Given the description of an element on the screen output the (x, y) to click on. 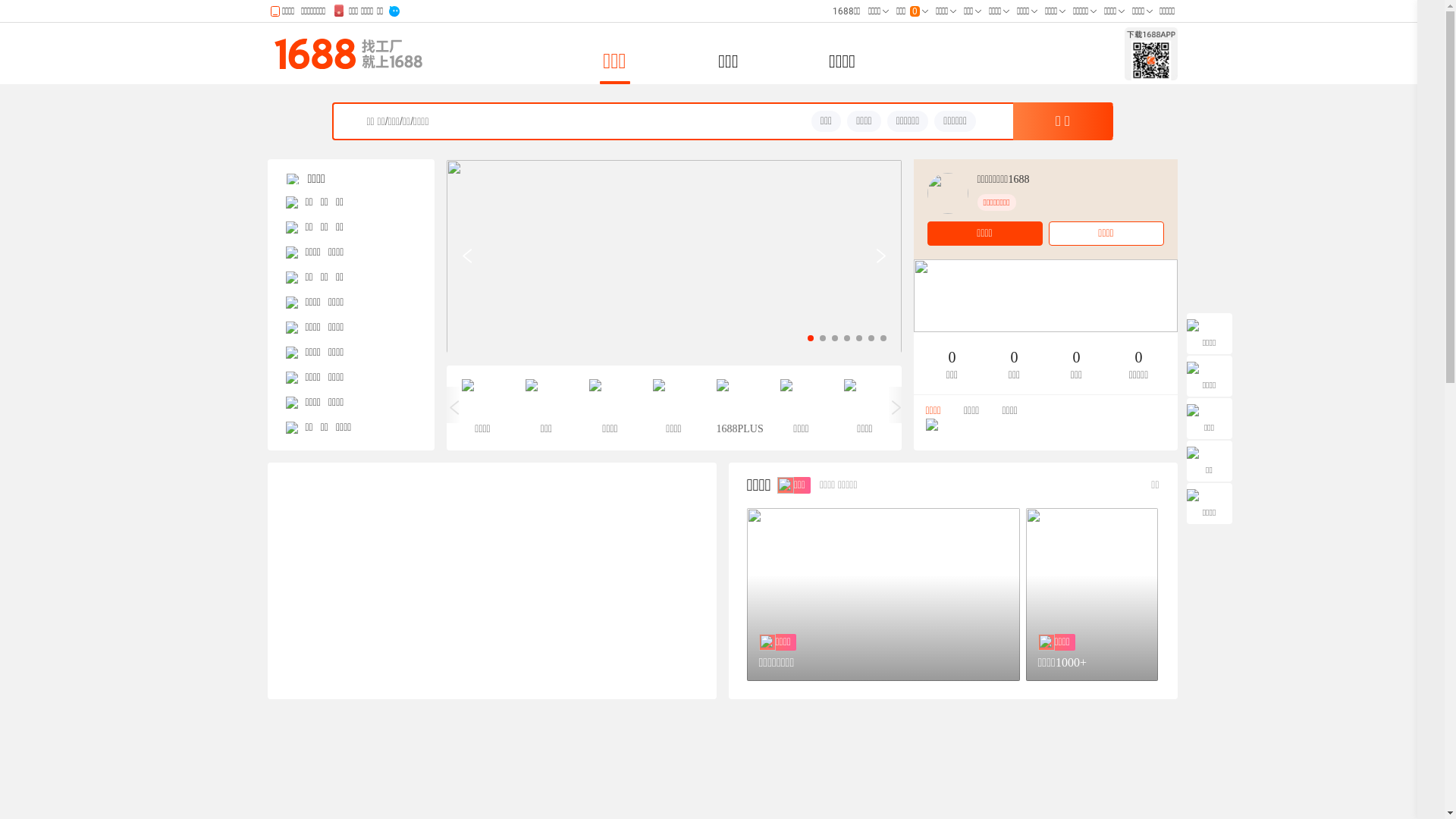
1688PLUS Element type: text (736, 407)
